Given the description of an element on the screen output the (x, y) to click on. 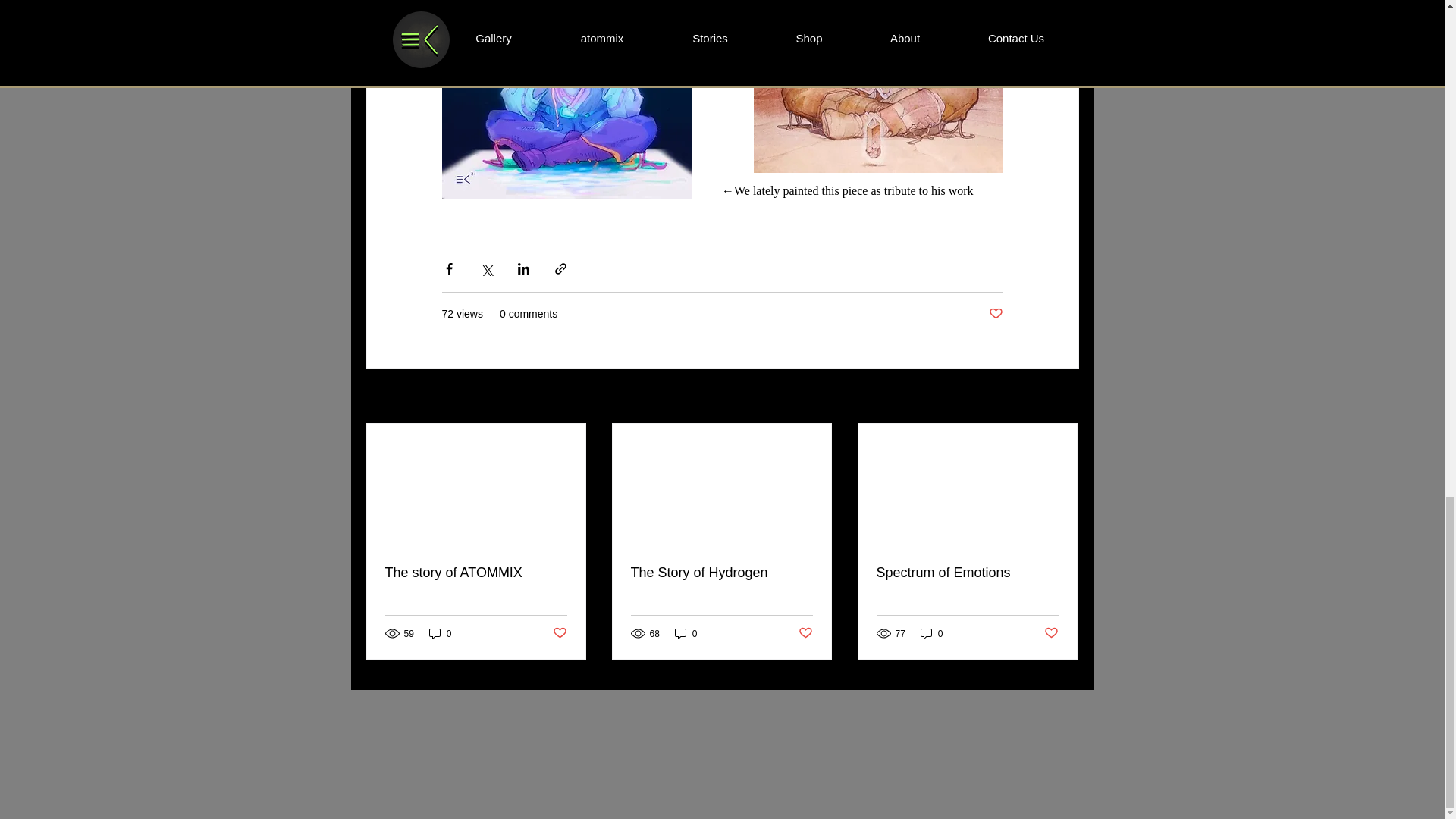
0 (685, 633)
See All (1061, 396)
Post not marked as liked (995, 314)
Post not marked as liked (804, 633)
0 (931, 633)
Spectrum of Emotions (967, 572)
0 (440, 633)
The story of ATOMMIX (476, 572)
Post not marked as liked (558, 633)
The Story of Hydrogen (721, 572)
Post not marked as liked (1050, 633)
